Given the description of an element on the screen output the (x, y) to click on. 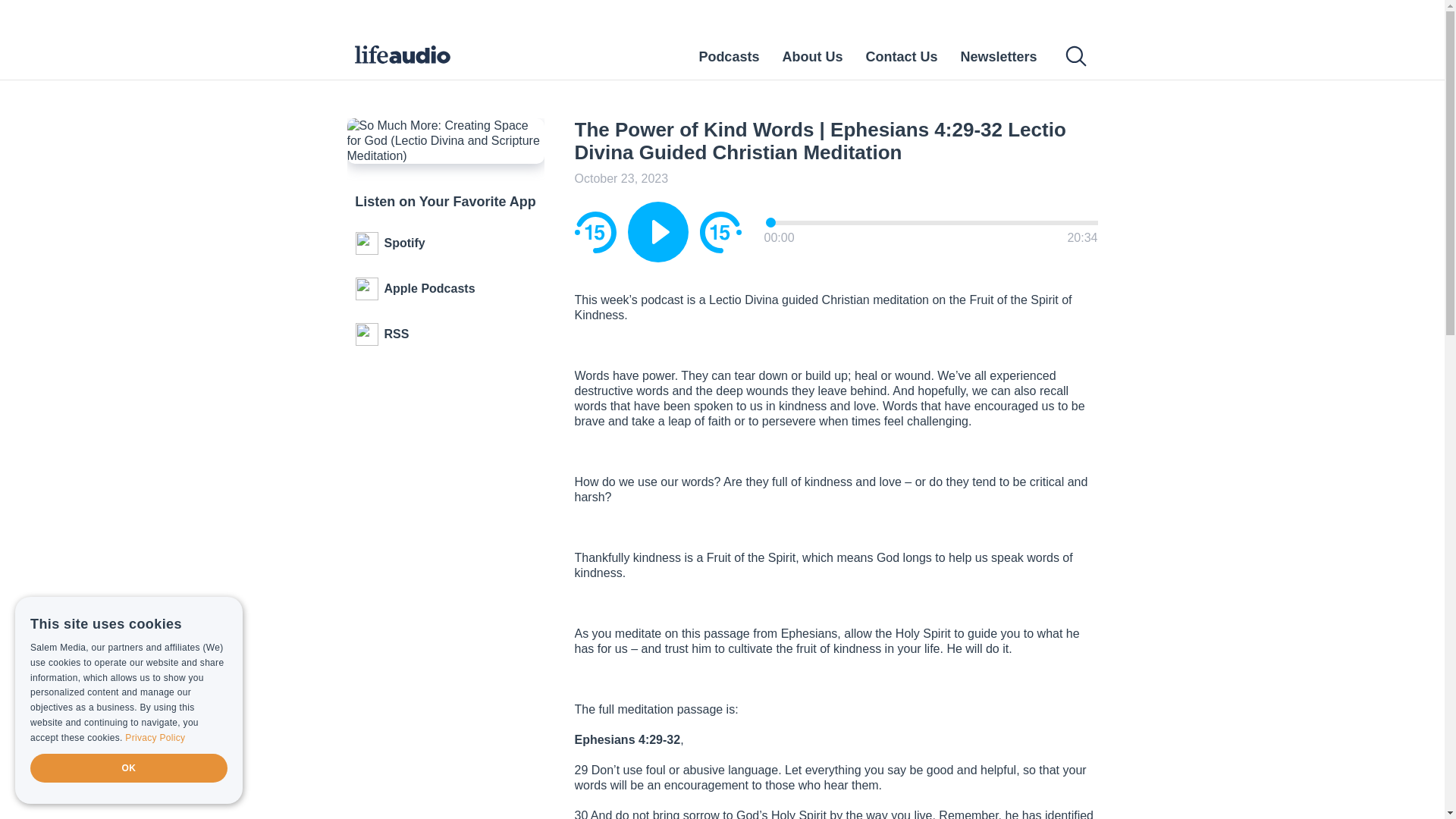
Newsletters (997, 56)
RSS (445, 333)
RSS feed (445, 333)
Podcasts (728, 56)
0.01 (932, 222)
Apple Podcasts (445, 288)
About Us (812, 56)
Spotify (445, 243)
Contact Us (900, 56)
